Given the description of an element on the screen output the (x, y) to click on. 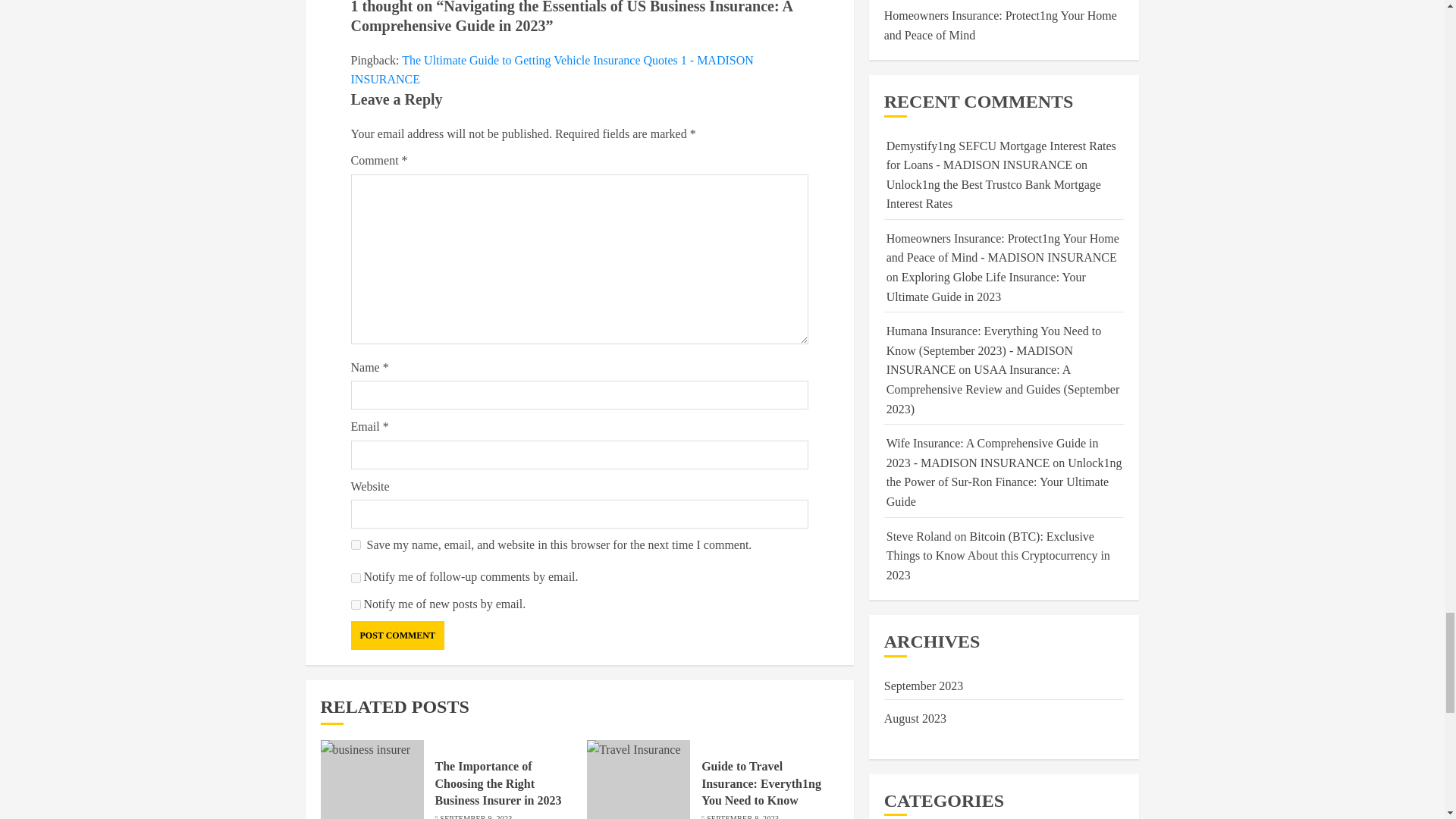
subscribe (354, 578)
Post Comment (397, 635)
subscribe (354, 604)
yes (354, 544)
Post Comment (397, 635)
